Given the description of an element on the screen output the (x, y) to click on. 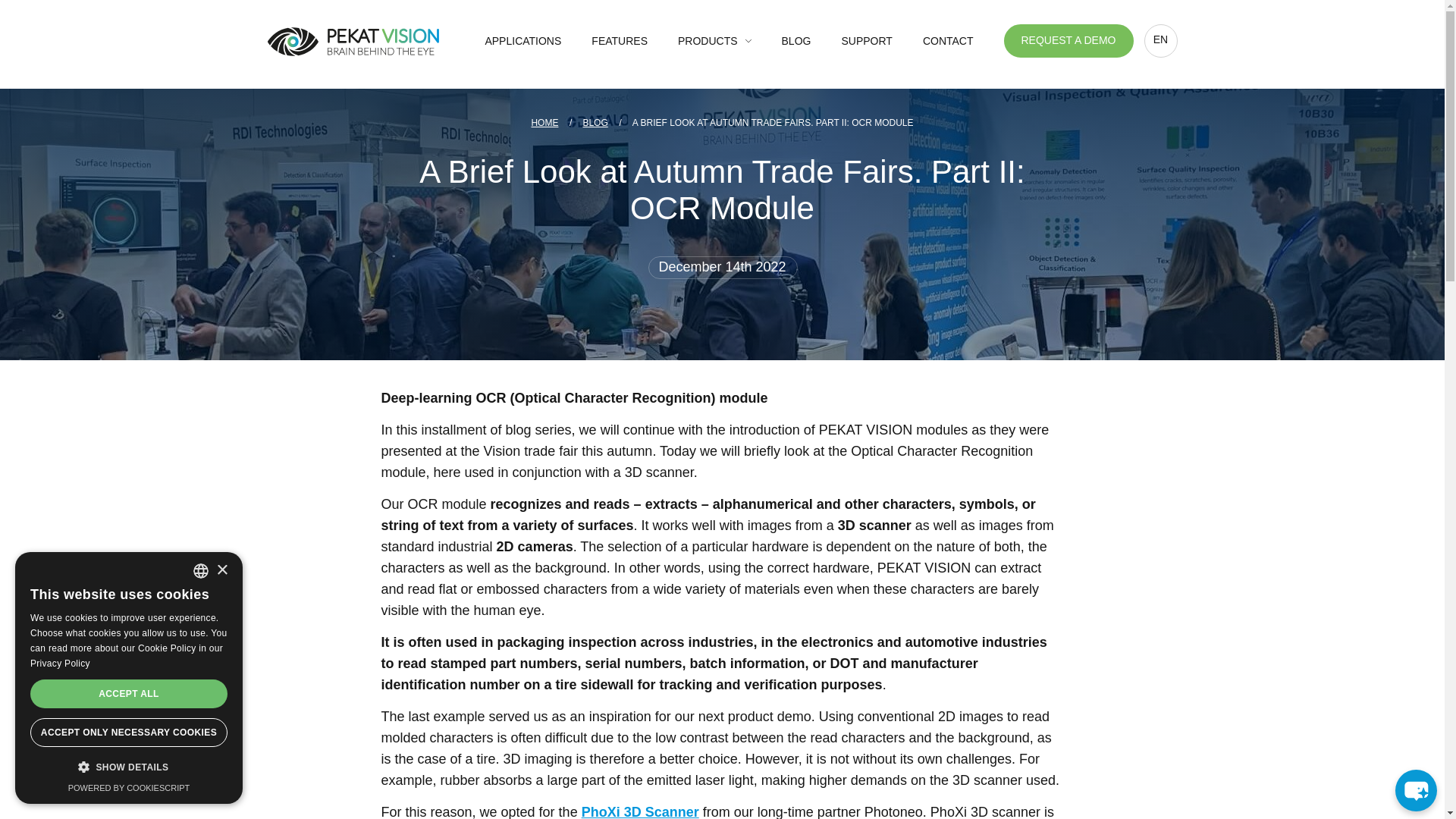
Consent Management Platform (129, 787)
APPLICATIONS (522, 40)
PhoXi 3D Scanner (639, 811)
PEKAT VISION (352, 41)
REQUEST A DEMO (1069, 40)
BLOG (594, 122)
PRODUCTS (714, 40)
HOME (544, 122)
CONTACT (948, 40)
EN (1159, 40)
FEATURES (619, 40)
SUPPORT (866, 40)
